Given the description of an element on the screen output the (x, y) to click on. 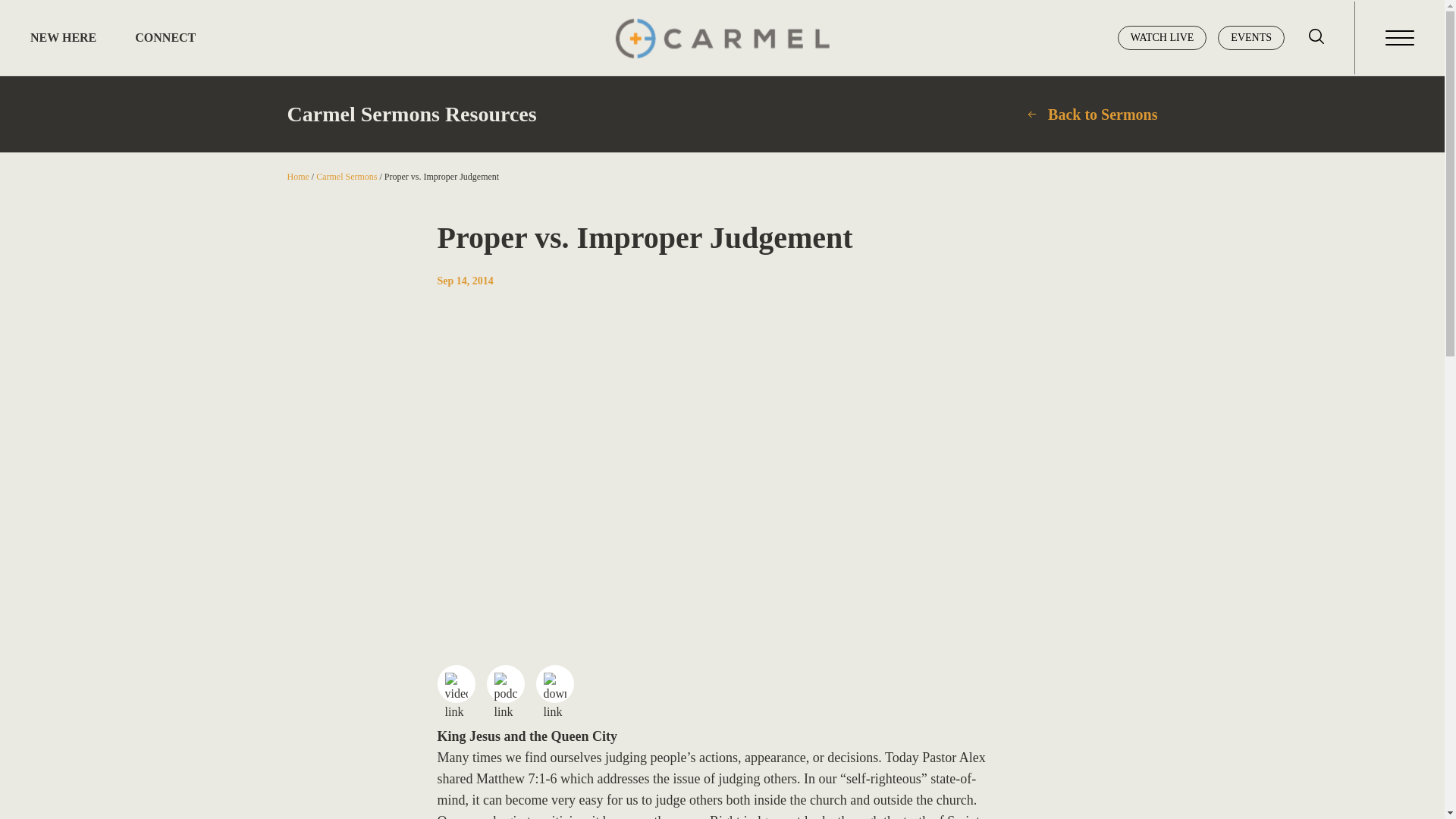
EVENTS (1250, 37)
NEW HERE (63, 37)
WATCH LIVE (1162, 37)
CONNECT (165, 37)
